Given the description of an element on the screen output the (x, y) to click on. 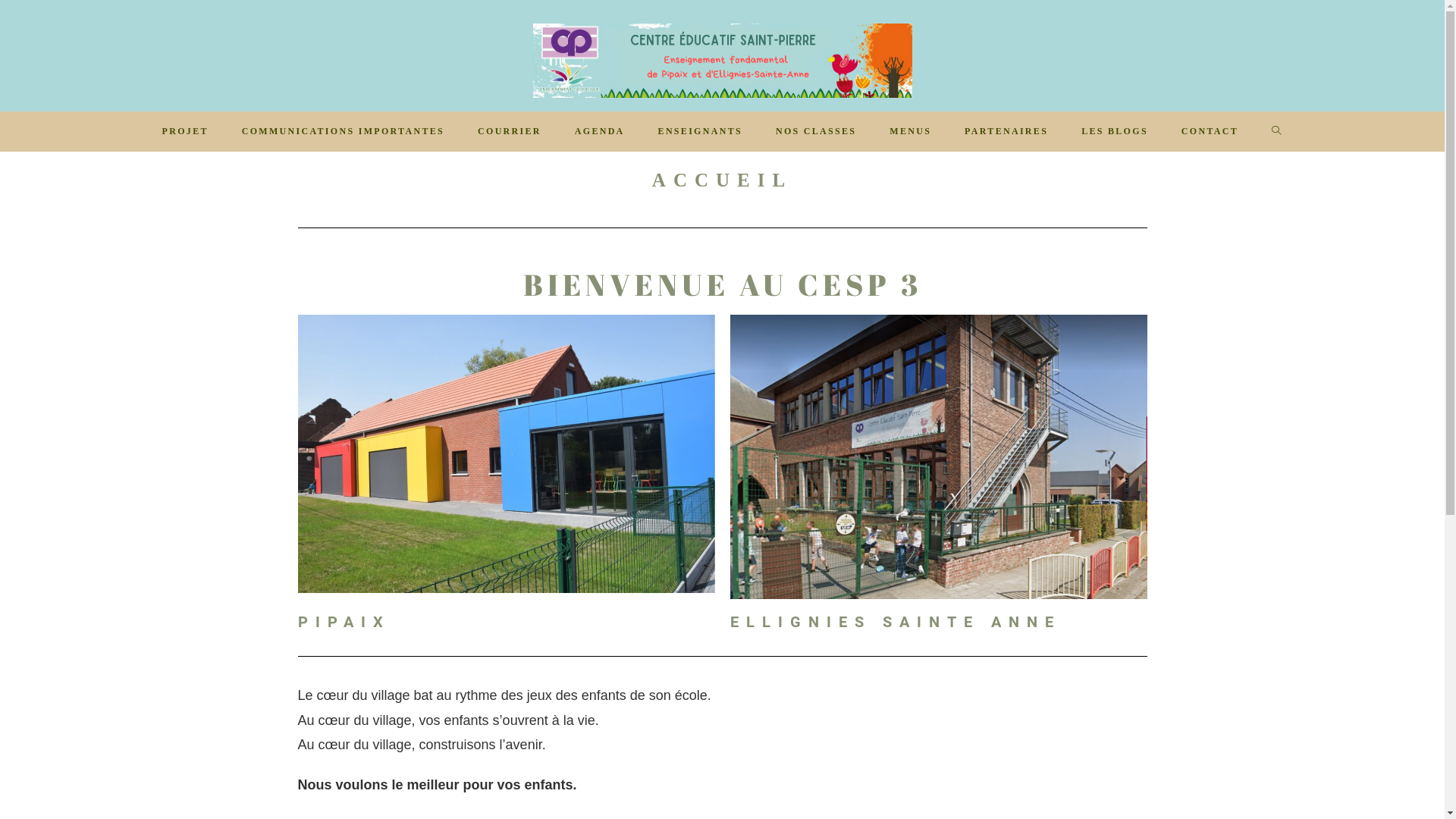
MENUS Element type: text (909, 131)
LES BLOGS Element type: text (1114, 131)
ENSEIGNANTS Element type: text (700, 131)
CONTACT Element type: text (1209, 131)
PARTENAIRES Element type: text (1005, 131)
AGENDA Element type: text (599, 131)
PROJET Element type: text (185, 131)
COMMUNICATIONS IMPORTANTES Element type: text (343, 131)
COURRIER Element type: text (509, 131)
NOS CLASSES Element type: text (815, 131)
